Given the description of an element on the screen output the (x, y) to click on. 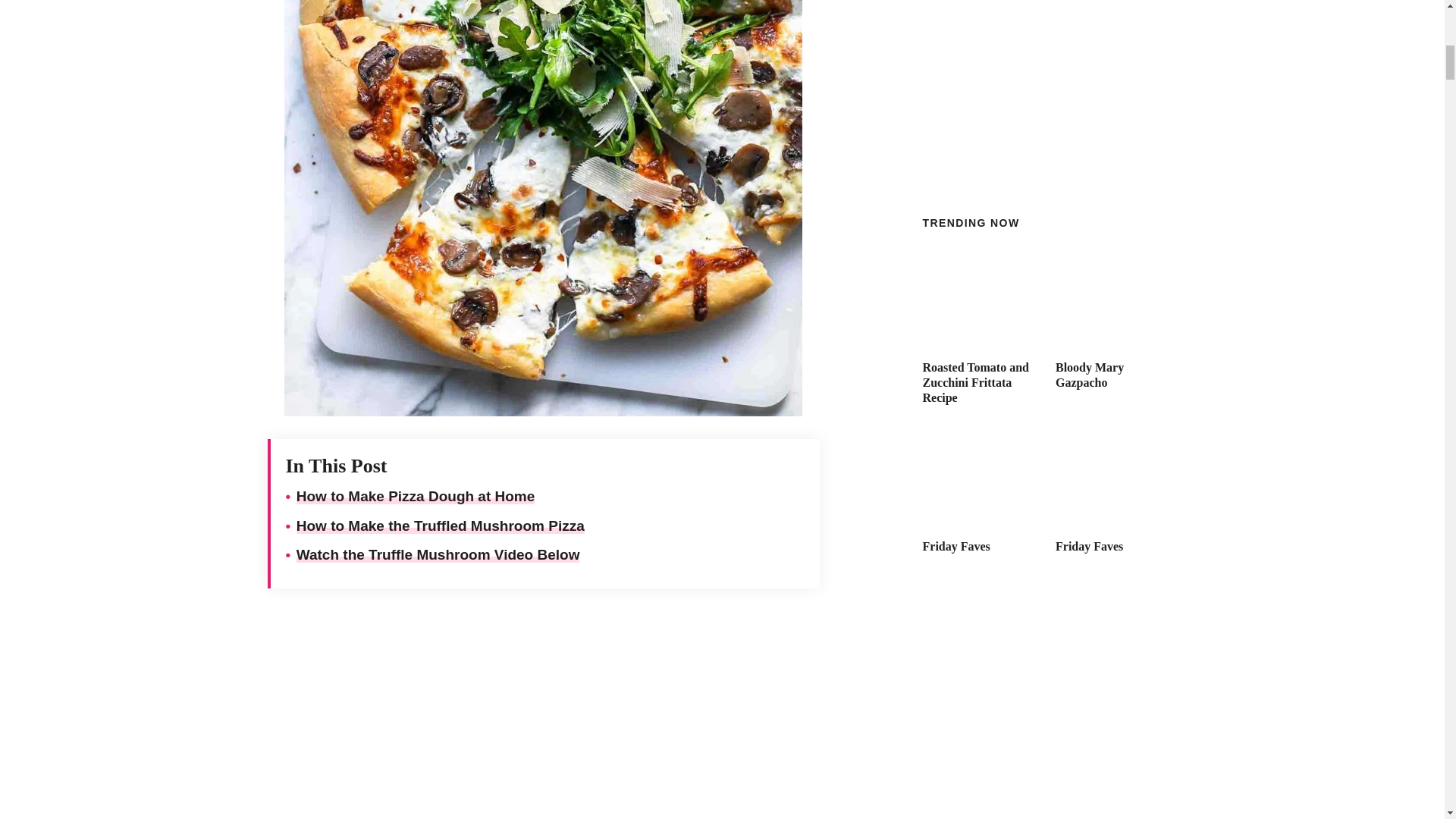
How to Make the Truffled Mushroom Pizza (441, 525)
How to Make Pizza Dough at Home (416, 496)
Watch the Truffle Mushroom Video Below (438, 554)
